Given the description of an element on the screen output the (x, y) to click on. 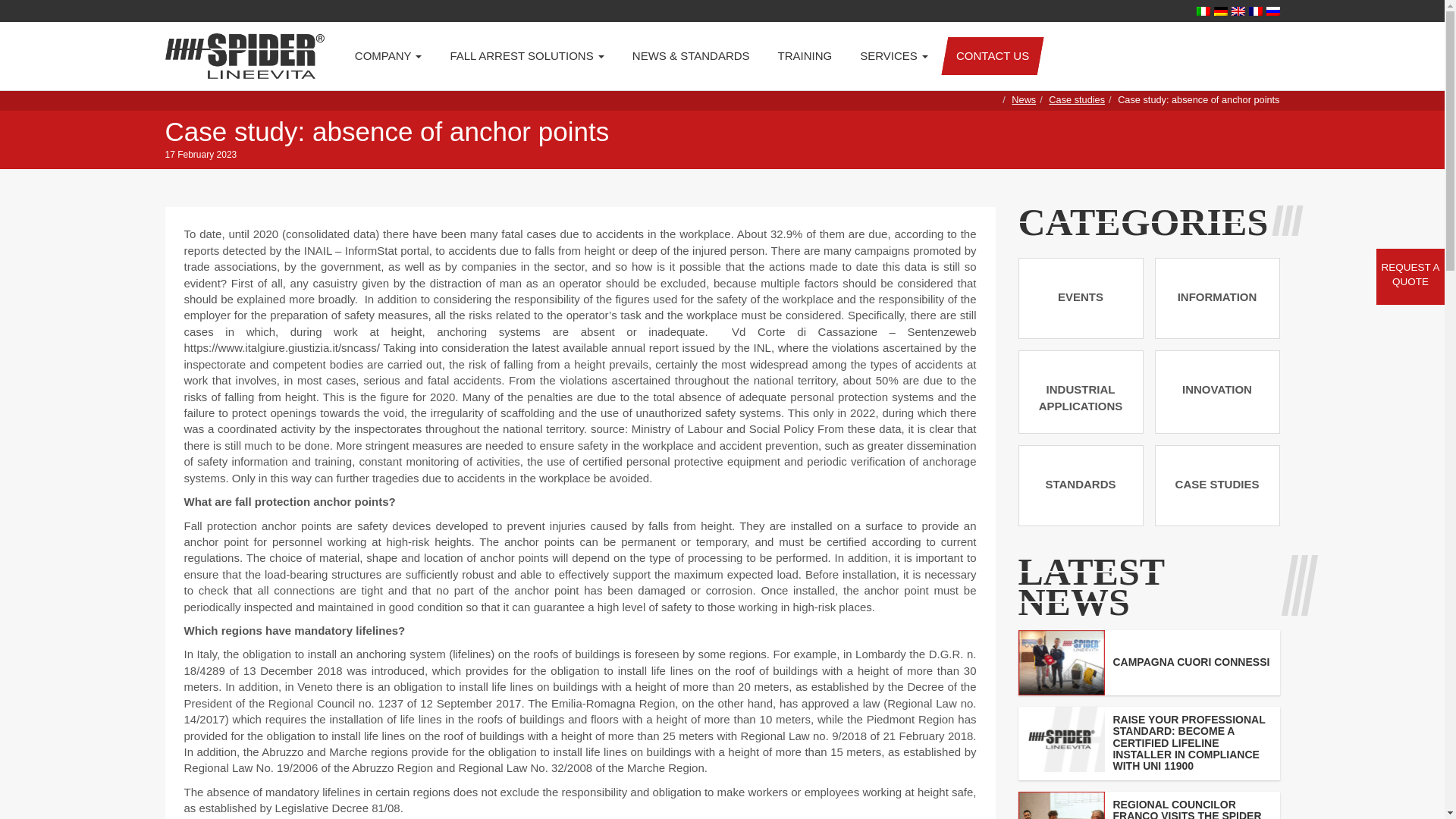
Company (388, 55)
CONTACT US (992, 55)
FALL ARREST SOLUTIONS (526, 55)
Fall arrest solutions (526, 55)
News (1023, 99)
SERVICES (893, 55)
Case studies (1076, 99)
Training (805, 55)
TRAINING (805, 55)
COMPANY (388, 55)
